Given the description of an element on the screen output the (x, y) to click on. 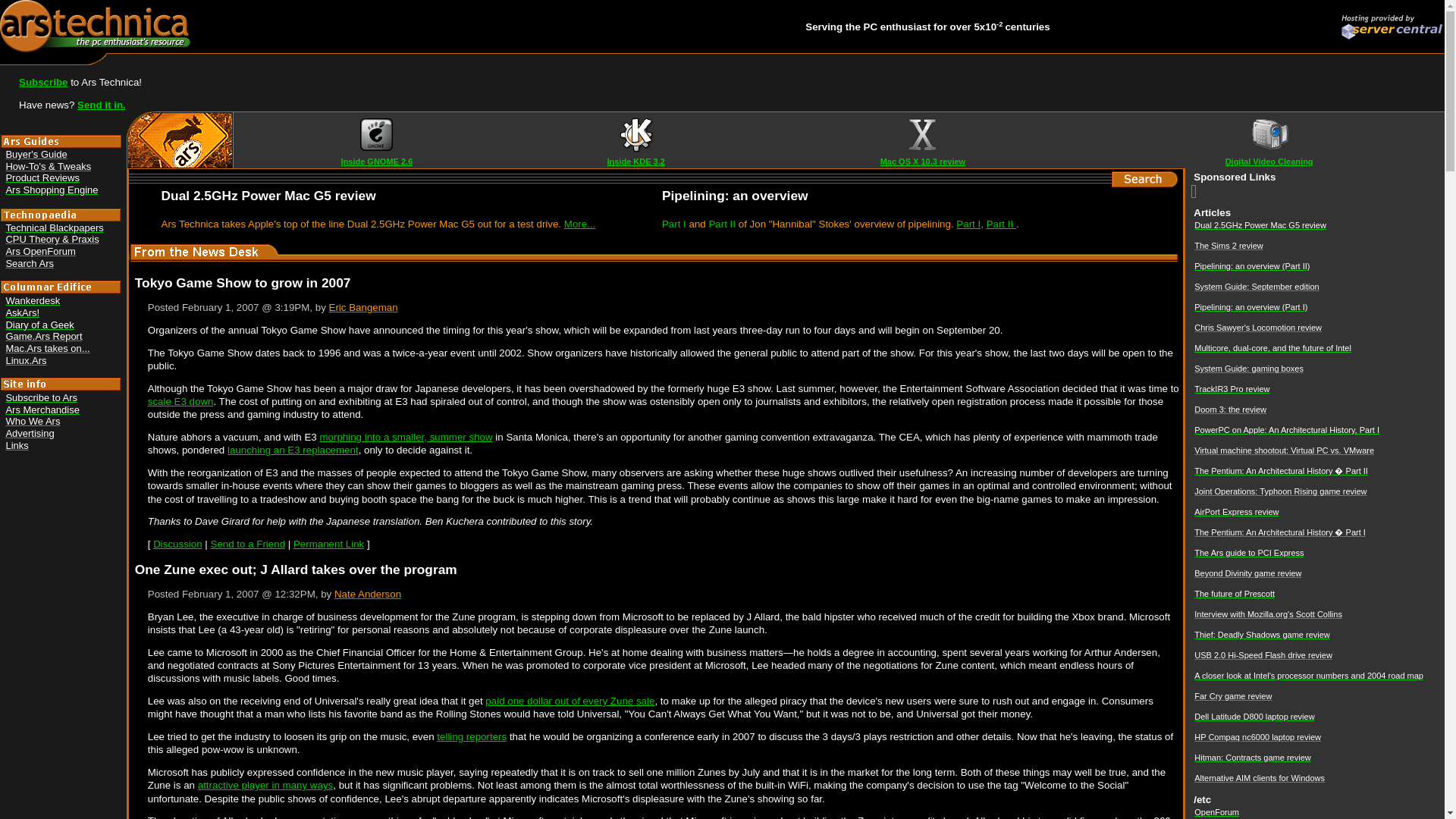
Diary of a Geek (39, 324)
Product Reviews (42, 177)
Ars OpenForum (40, 251)
Send it in. (101, 104)
Game.Ars Report (43, 336)
Subscribe (42, 81)
Pipelining: an overview (735, 195)
Inside KDE 3.2 (635, 161)
Buyer's Guide (35, 153)
Search Ars (29, 263)
